Given the description of an element on the screen output the (x, y) to click on. 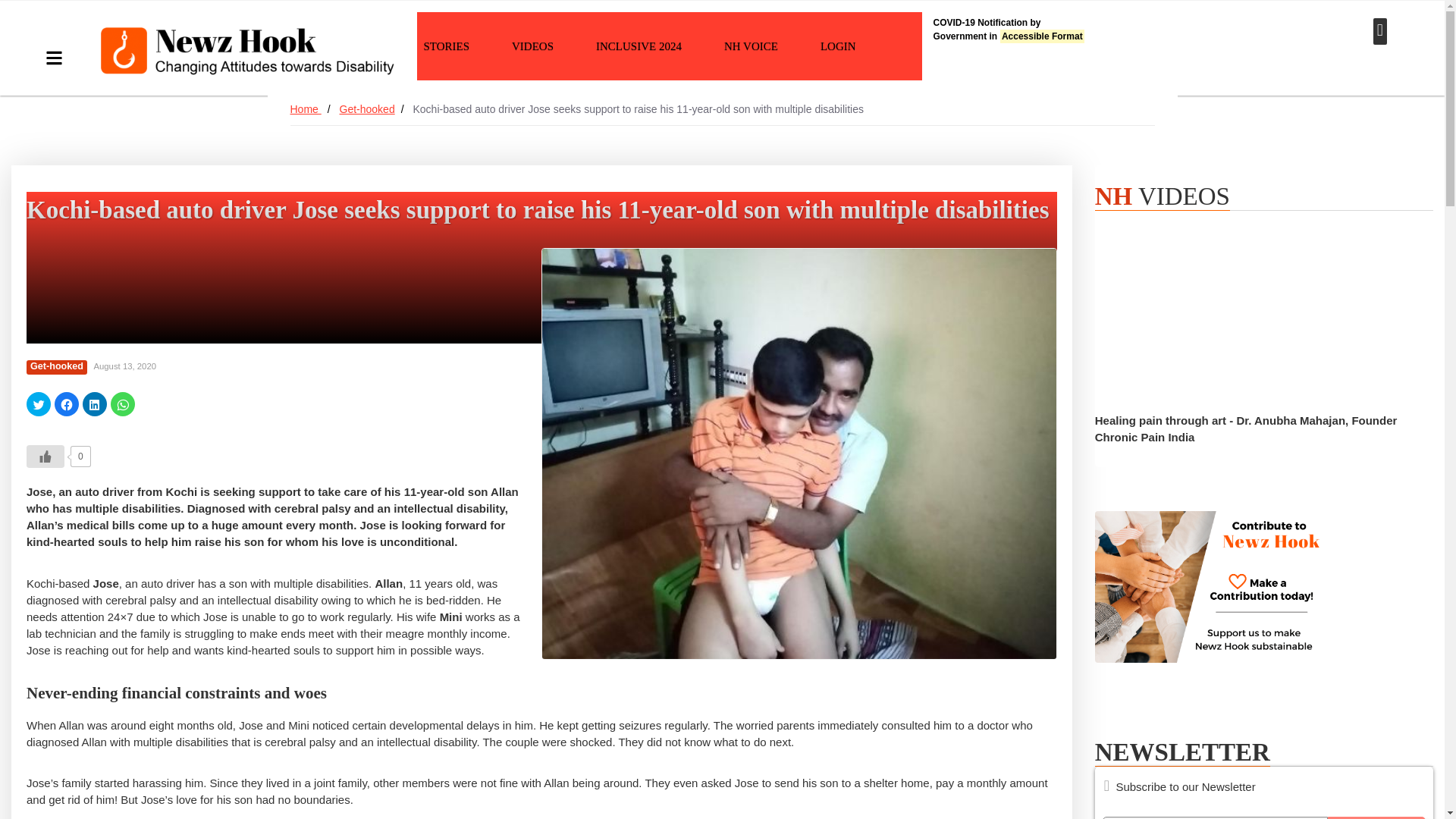
INCLUSIVE 2024 (638, 46)
LOGIN (837, 46)
NH VOICE (750, 46)
Click to share on WhatsApp (122, 404)
Click to share on LinkedIn (94, 404)
Get-hooked (1038, 29)
Get-hooked (56, 367)
STORIES (366, 109)
Home (446, 46)
VIDEOS (304, 109)
Click to share on Twitter (532, 46)
Subscribe (38, 404)
Click to share on Facebook (1376, 817)
